Given the description of an element on the screen output the (x, y) to click on. 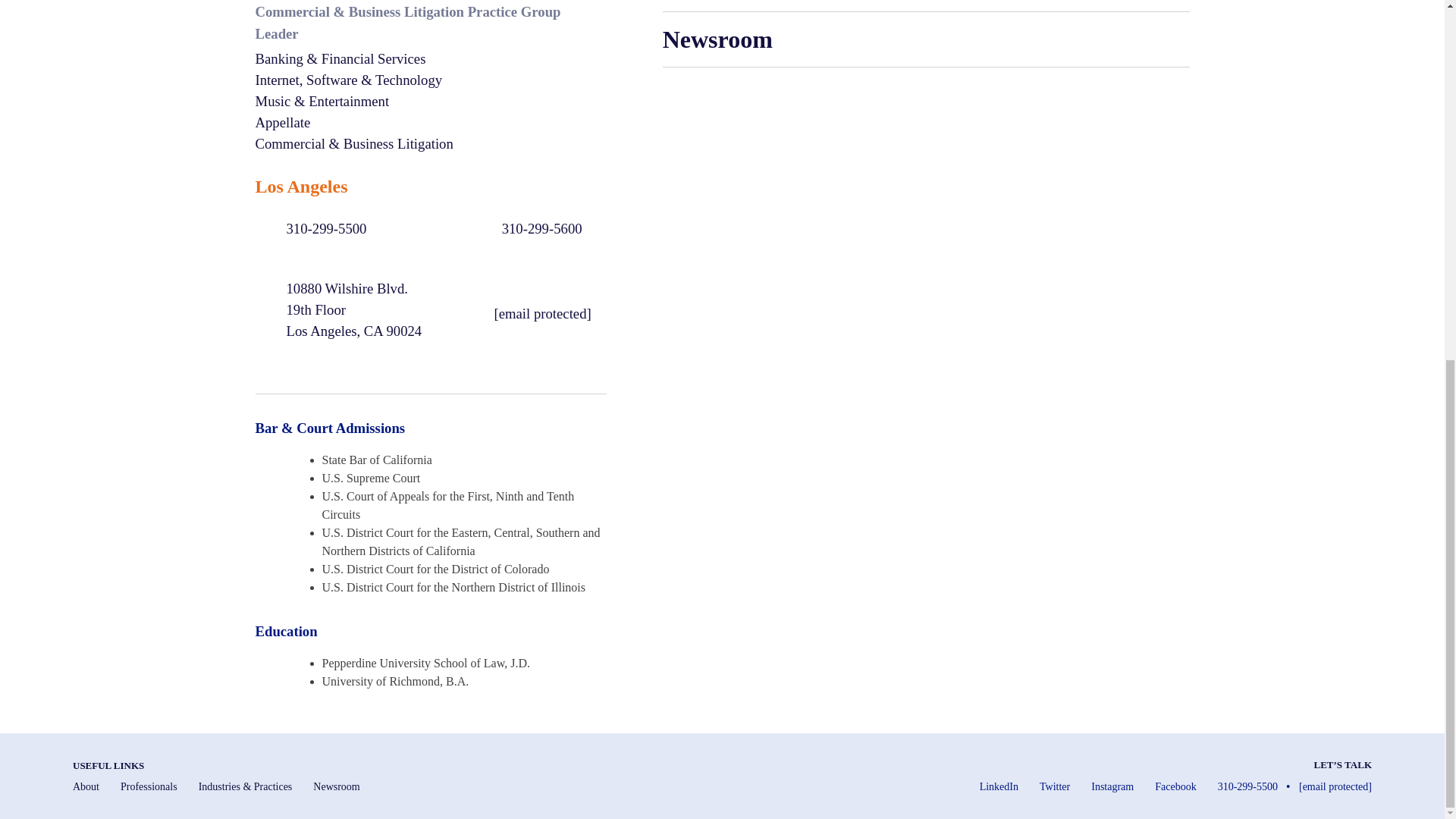
Newsroom (336, 786)
310-299-5500 (357, 228)
USEFUL LINKS (108, 765)
LinkedIn (998, 786)
Newsroom (925, 39)
Representative Matters (925, 5)
About (85, 786)
Twitter (1054, 786)
Professionals (148, 786)
310-299-5600 (533, 228)
